Given the description of an element on the screen output the (x, y) to click on. 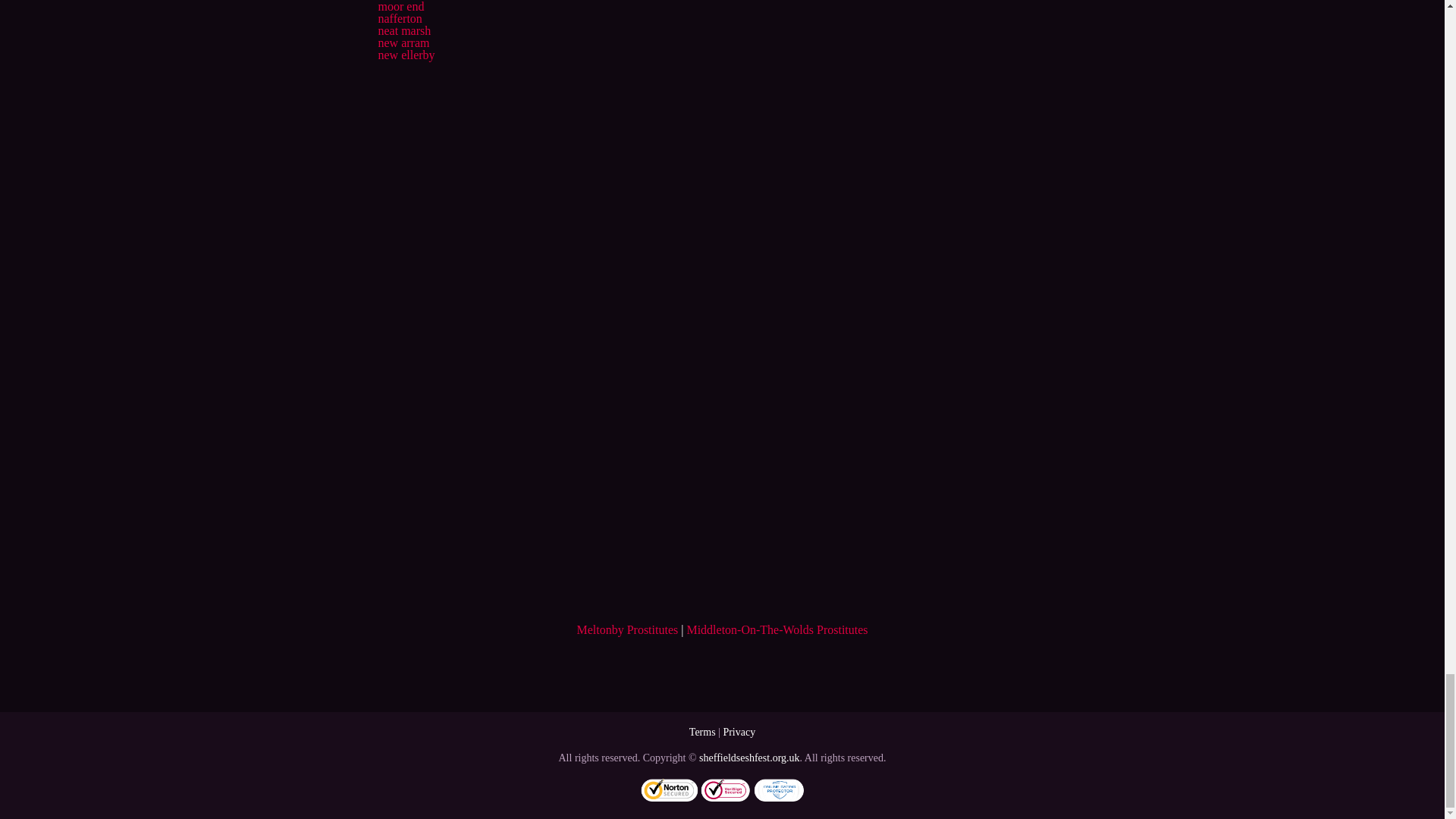
Privacy (738, 731)
Privacy (738, 731)
Terms (702, 731)
Middleton-On-The-Wolds Prostitutes (776, 629)
Terms (702, 731)
neat marsh (403, 30)
molescroft (403, 0)
Meltonby Prostitutes (627, 629)
sheffieldseshfest.org.uk (748, 757)
nafferton (399, 18)
moor end (400, 6)
new arram (403, 42)
new ellerby (405, 54)
